Given the description of an element on the screen output the (x, y) to click on. 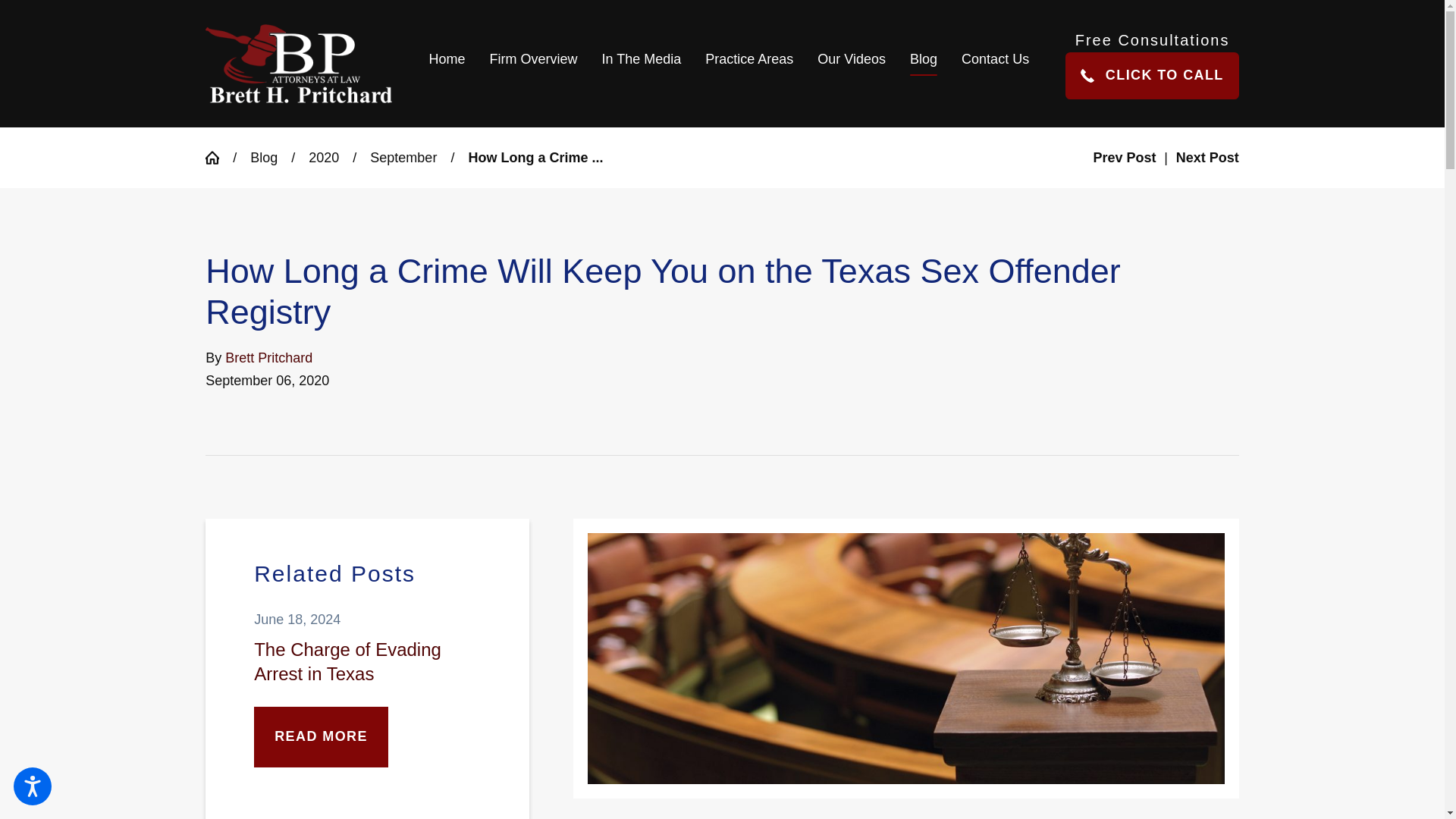
Home (453, 63)
Firm Overview (533, 63)
Our Videos (851, 63)
Practice Areas (749, 63)
In The Media (641, 63)
Law Office of Brett H. Pritchard (298, 63)
Open the accessibility options menu (31, 786)
Go Home (218, 157)
Blog (923, 63)
